Given the description of an element on the screen output the (x, y) to click on. 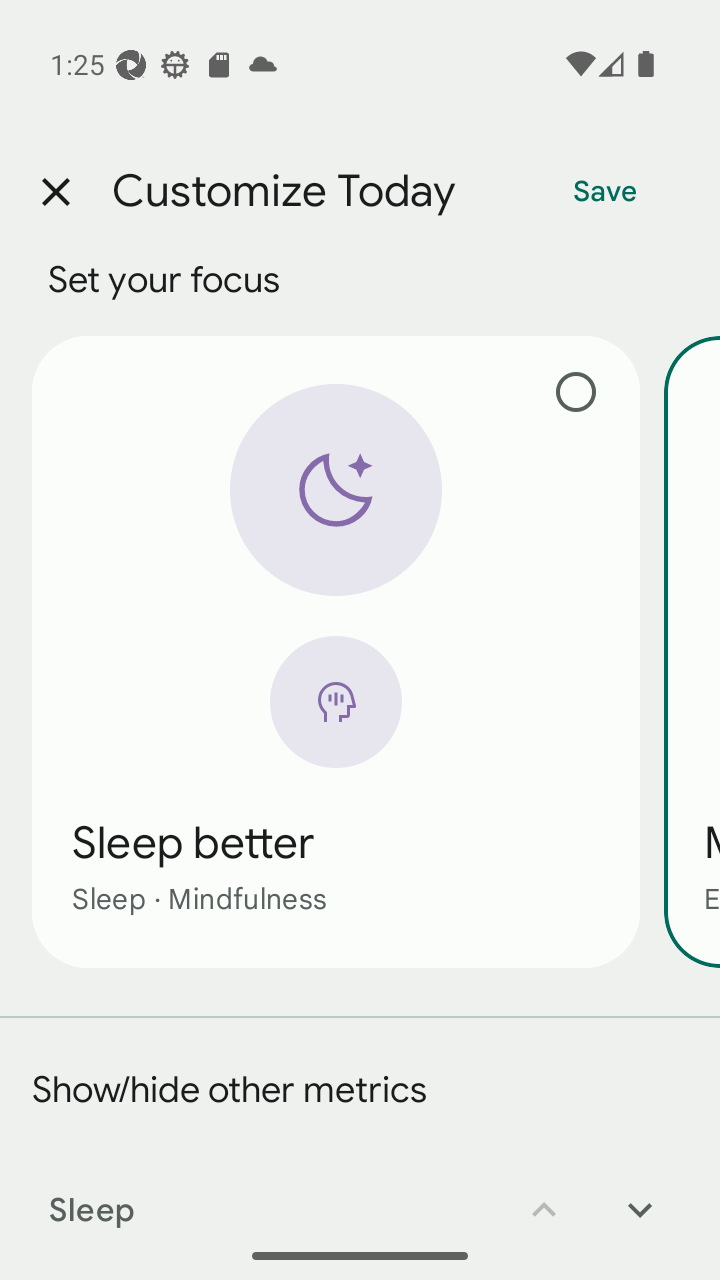
Close (55, 191)
Save (605, 191)
Sleep better Sleep · Mindfulness (335, 651)
Move Sleep up (543, 1196)
Move Sleep down (639, 1196)
